Given the description of an element on the screen output the (x, y) to click on. 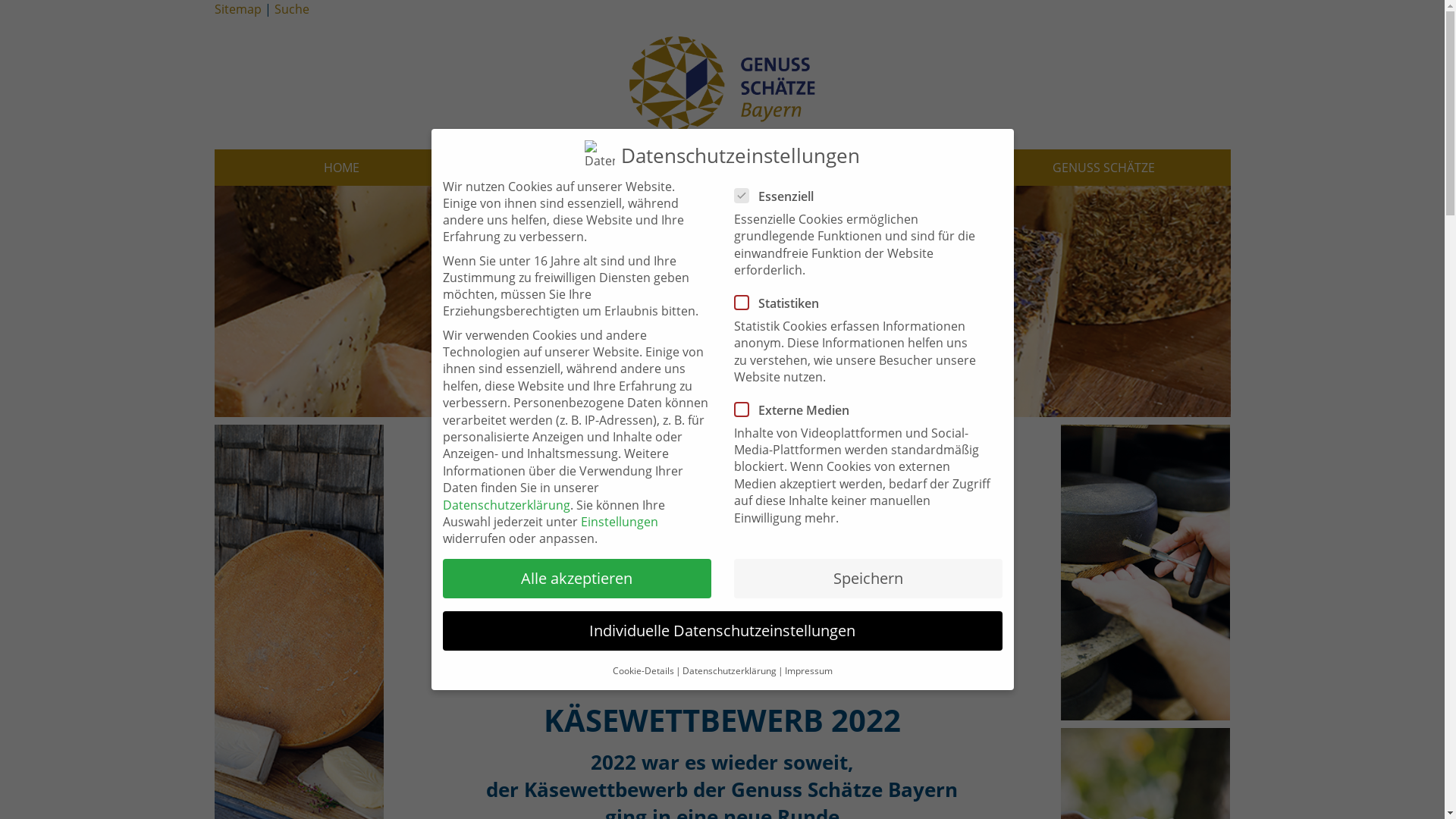
Einstellungen Element type: text (619, 521)
Alle akzeptieren Element type: text (576, 578)
Individuelle Datenschutzeinstellungen Element type: text (722, 630)
PREMIUMSTRATEGIE Element type: text (848, 167)
HOME Element type: text (340, 167)
Sitemap Element type: text (236, 8)
VIDEO-GALERIE Element type: text (595, 167)
Speichern Element type: text (868, 578)
Impressum Element type: text (807, 670)
Cookie-Details Element type: text (643, 670)
Suche Element type: text (291, 8)
